Given the description of an element on the screen output the (x, y) to click on. 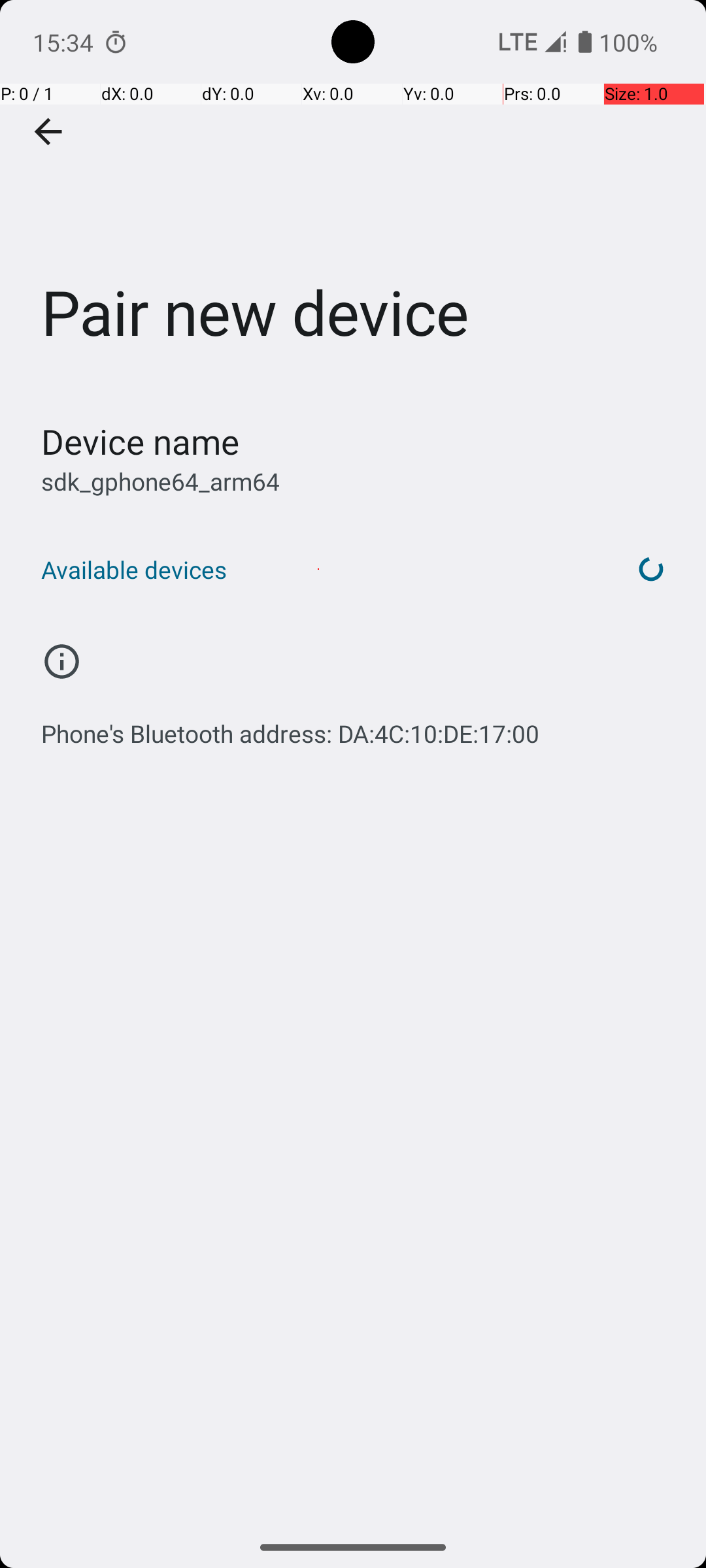
Pair new device Element type: android.widget.FrameLayout (353, 195)
Available devices Element type: android.widget.TextView (318, 569)
Phone's Bluetooth address: DA:4C:10:DE:17:00 Element type: android.widget.TextView (290, 726)
